Given the description of an element on the screen output the (x, y) to click on. 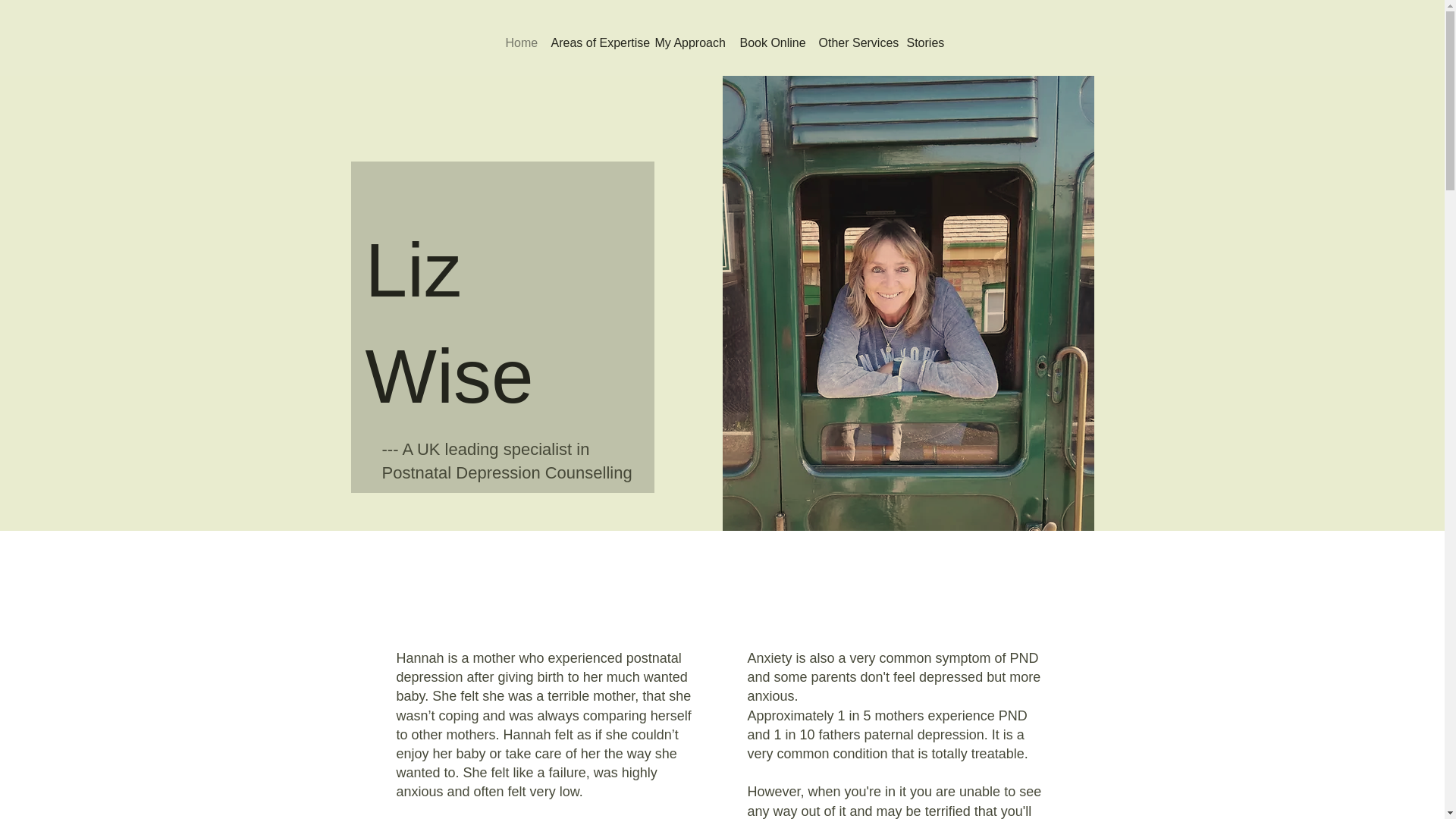
Other Services (854, 42)
Stories (923, 42)
My Approach (689, 42)
Home (520, 42)
Book Online (771, 42)
Areas of Expertise (594, 42)
